Given the description of an element on the screen output the (x, y) to click on. 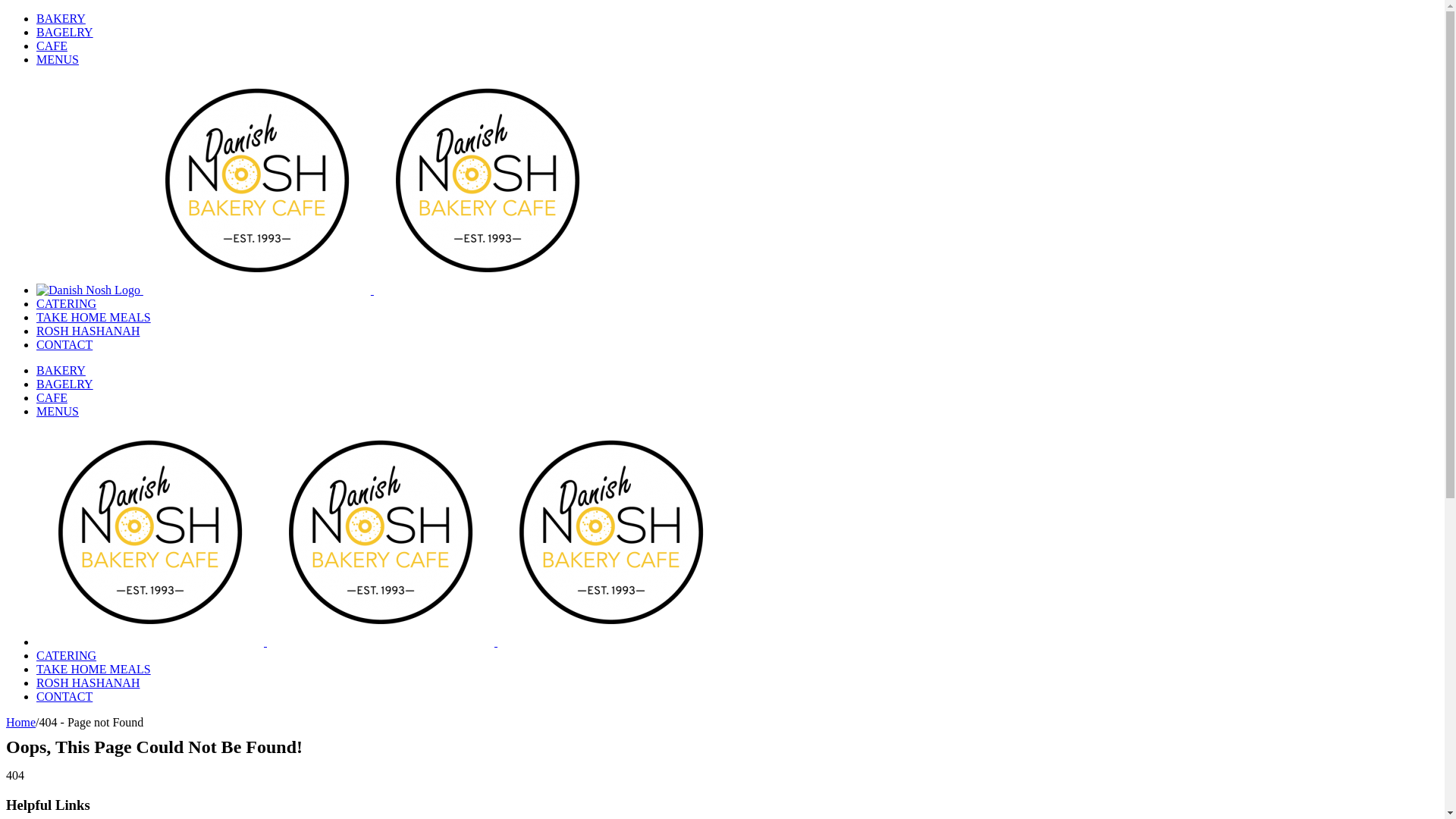
Home Element type: text (20, 721)
CAFE Element type: text (51, 45)
BAGELRY Element type: text (64, 31)
TAKE HOME MEALS Element type: text (93, 316)
CATERING Element type: text (66, 303)
CATERING Element type: text (66, 655)
Skip to content Element type: text (5, 11)
TAKE HOME MEALS Element type: text (93, 668)
CONTACT Element type: text (64, 696)
ROSH HASHANAH Element type: text (87, 330)
BAKERY Element type: text (60, 370)
CAFE Element type: text (51, 397)
MENUS Element type: text (57, 410)
CONTACT Element type: text (64, 344)
MENUS Element type: text (57, 59)
ROSH HASHANAH Element type: text (87, 682)
BAGELRY Element type: text (64, 383)
BAKERY Element type: text (60, 18)
